Given the description of an element on the screen output the (x, y) to click on. 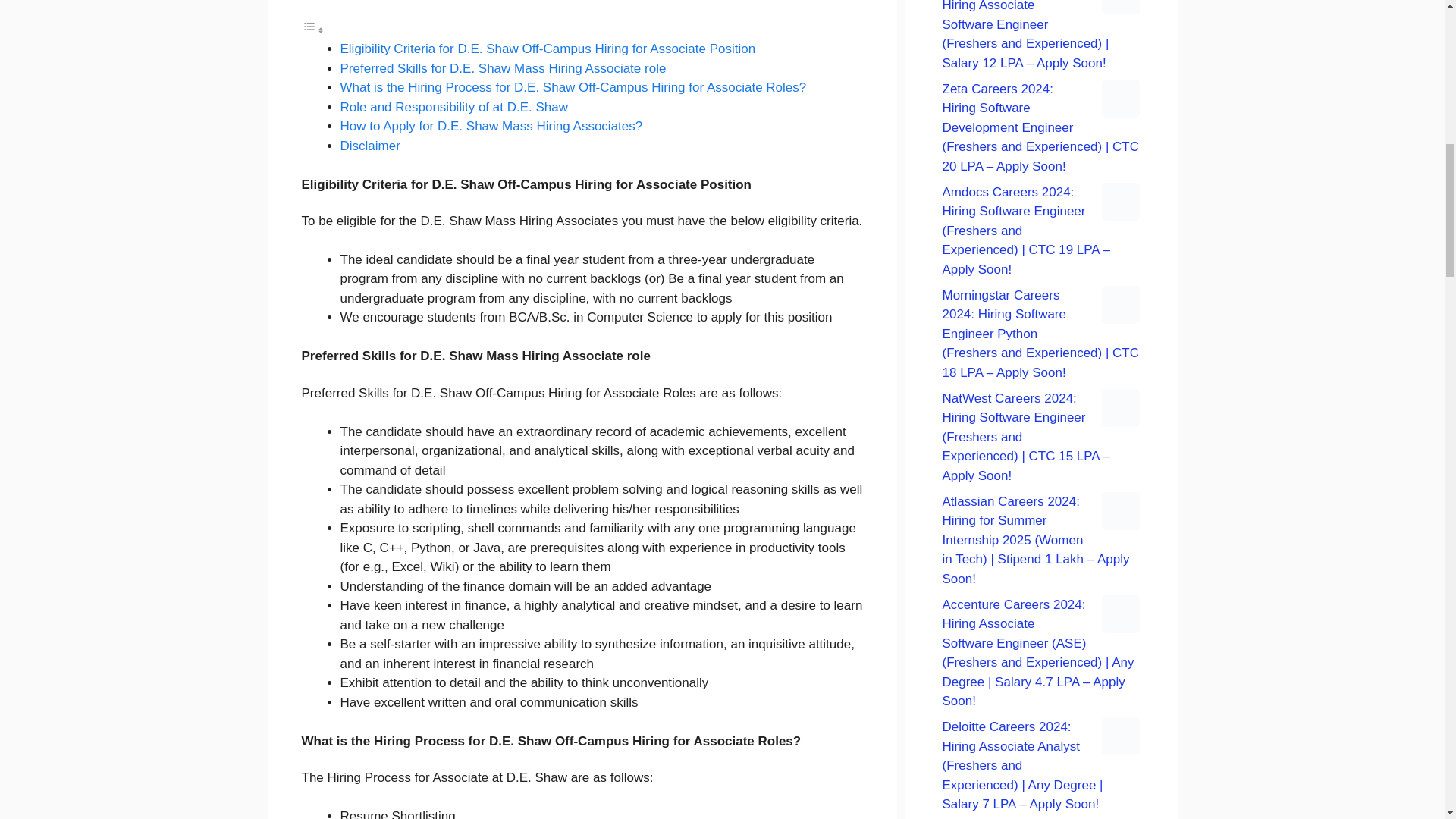
Disclaimer (368, 145)
Role and Responsibility of at D.E. Shaw (453, 106)
Disclaimer (368, 145)
Preferred Skills for D.E. Shaw Mass Hiring Associate role (502, 68)
How to Apply for D.E. Shaw Mass Hiring Associates? (490, 125)
How to Apply for D.E. Shaw Mass Hiring Associates? (490, 125)
